Given the description of an element on the screen output the (x, y) to click on. 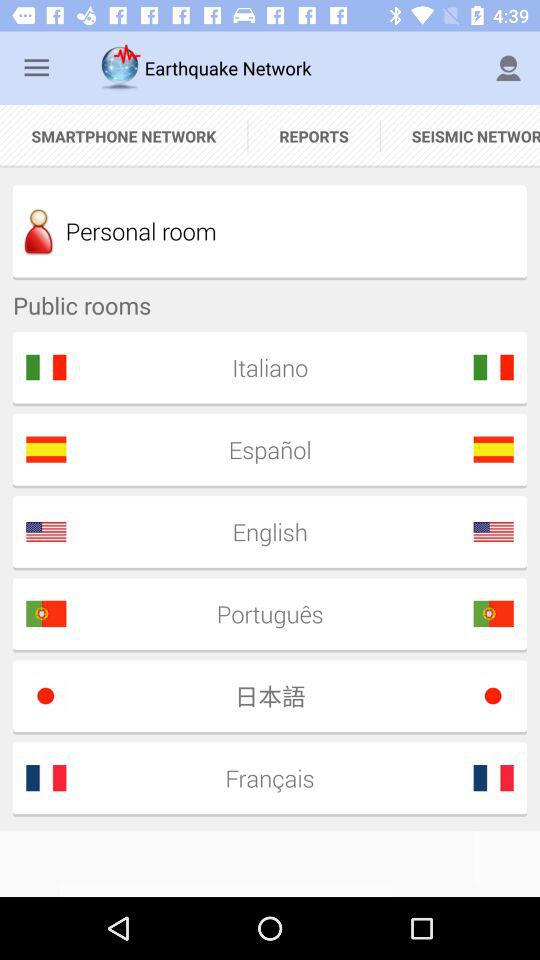
turn off icon below earthquake network (313, 136)
